Given the description of an element on the screen output the (x, y) to click on. 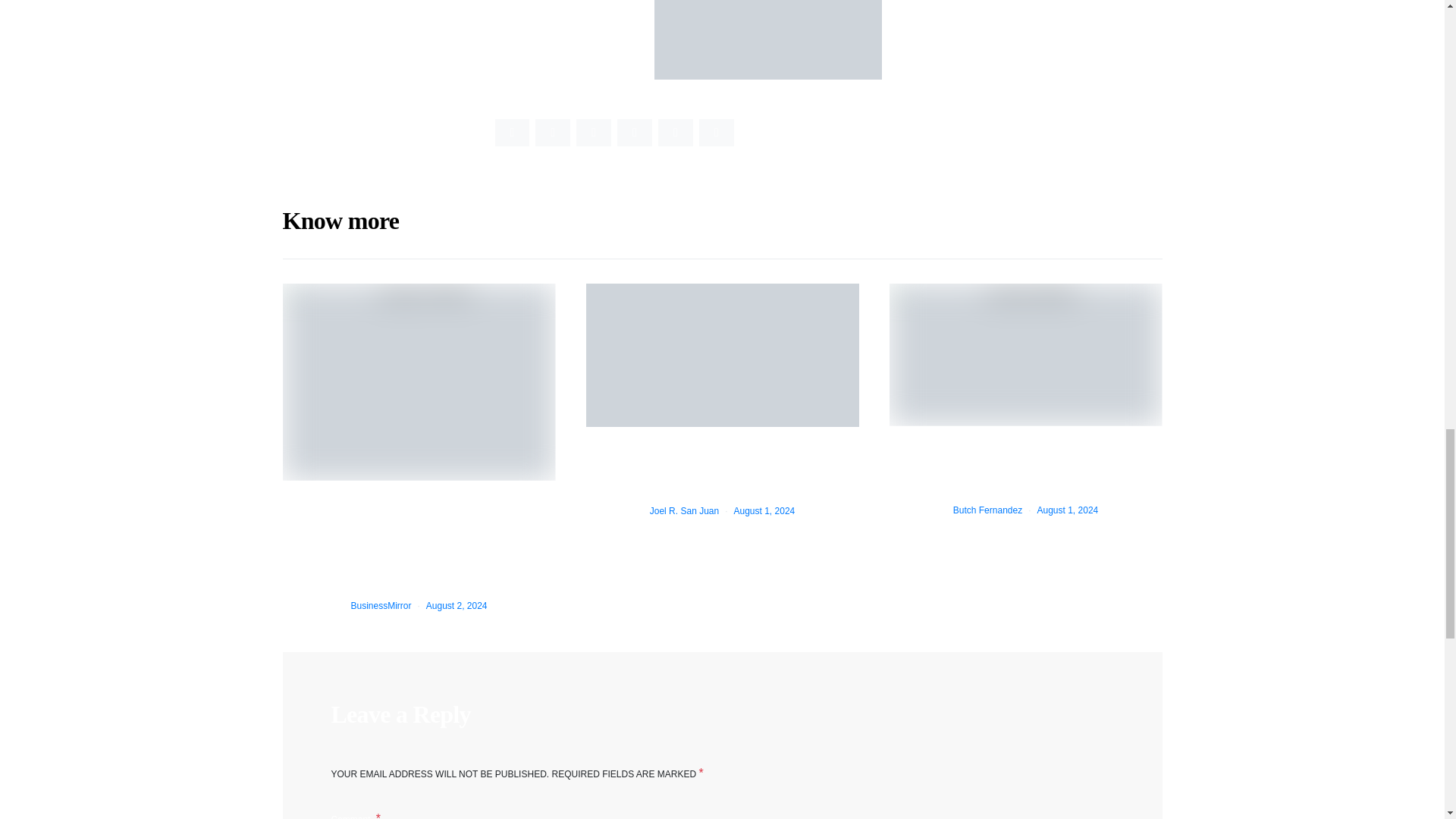
View all posts by Joel R. San Juan (684, 511)
View all posts by Butch Fernandez (987, 510)
View all posts by BusinessMirror (380, 605)
